Given the description of an element on the screen output the (x, y) to click on. 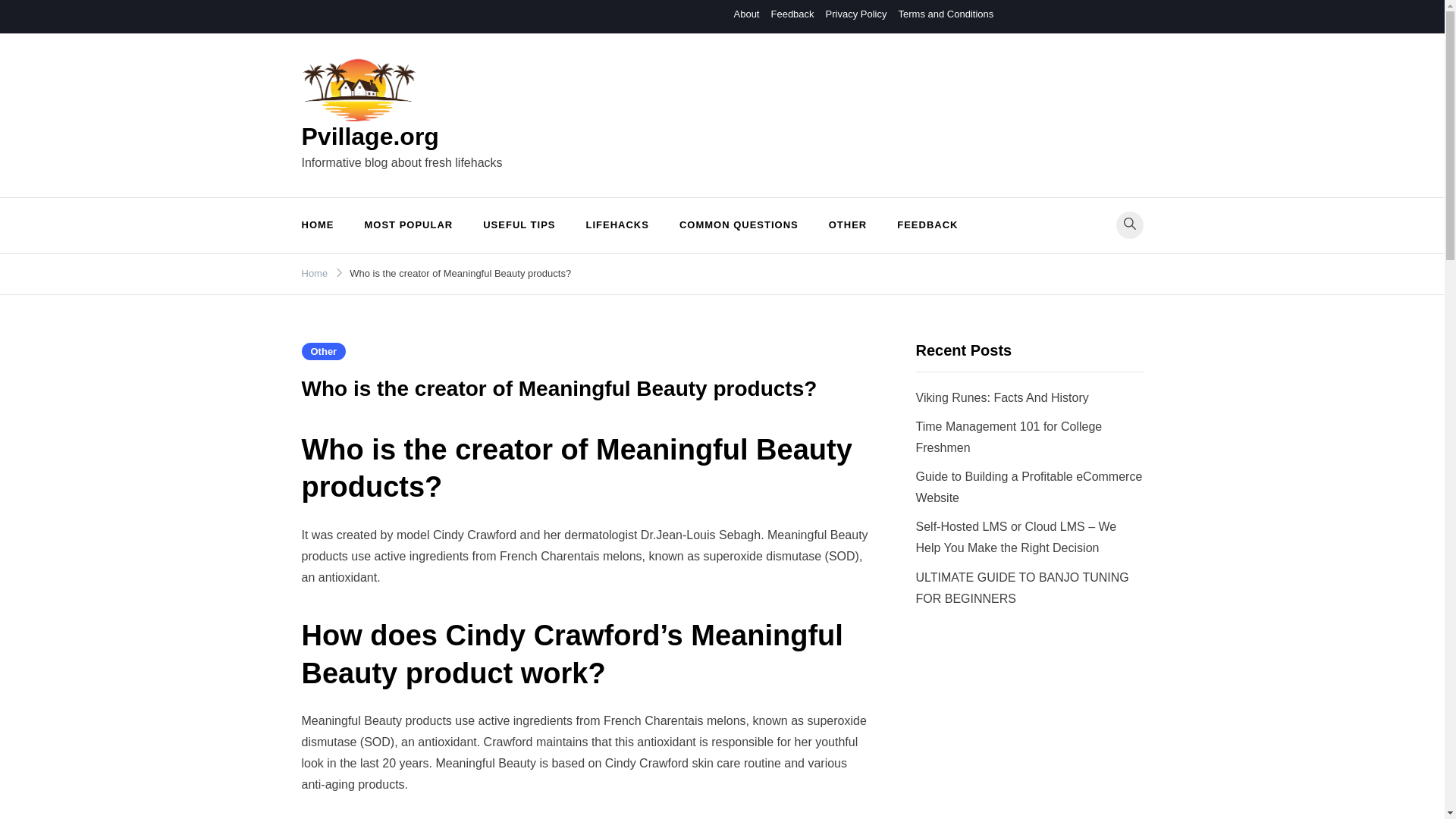
OTHER (847, 225)
Pvillage.org (370, 135)
Home (315, 273)
About (746, 13)
USEFUL TIPS (518, 225)
ULTIMATE GUIDE TO BANJO TUNING FOR BEGINNERS (1022, 587)
Other (323, 351)
MOST POPULAR (408, 225)
FEEDBACK (927, 225)
Terms and Conditions (945, 13)
